Given the description of an element on the screen output the (x, y) to click on. 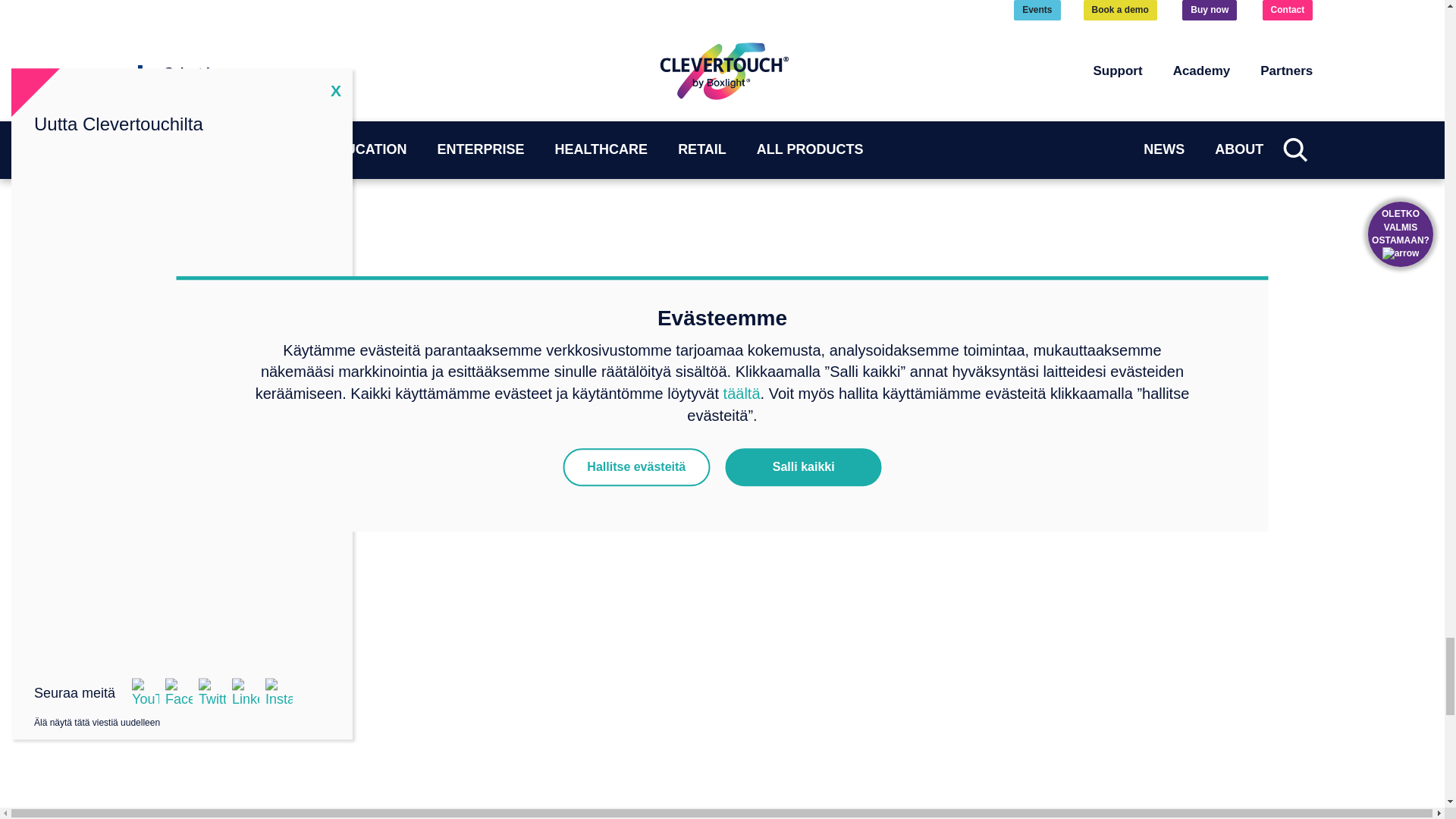
Form 1 (722, 66)
